Given the description of an element on the screen output the (x, y) to click on. 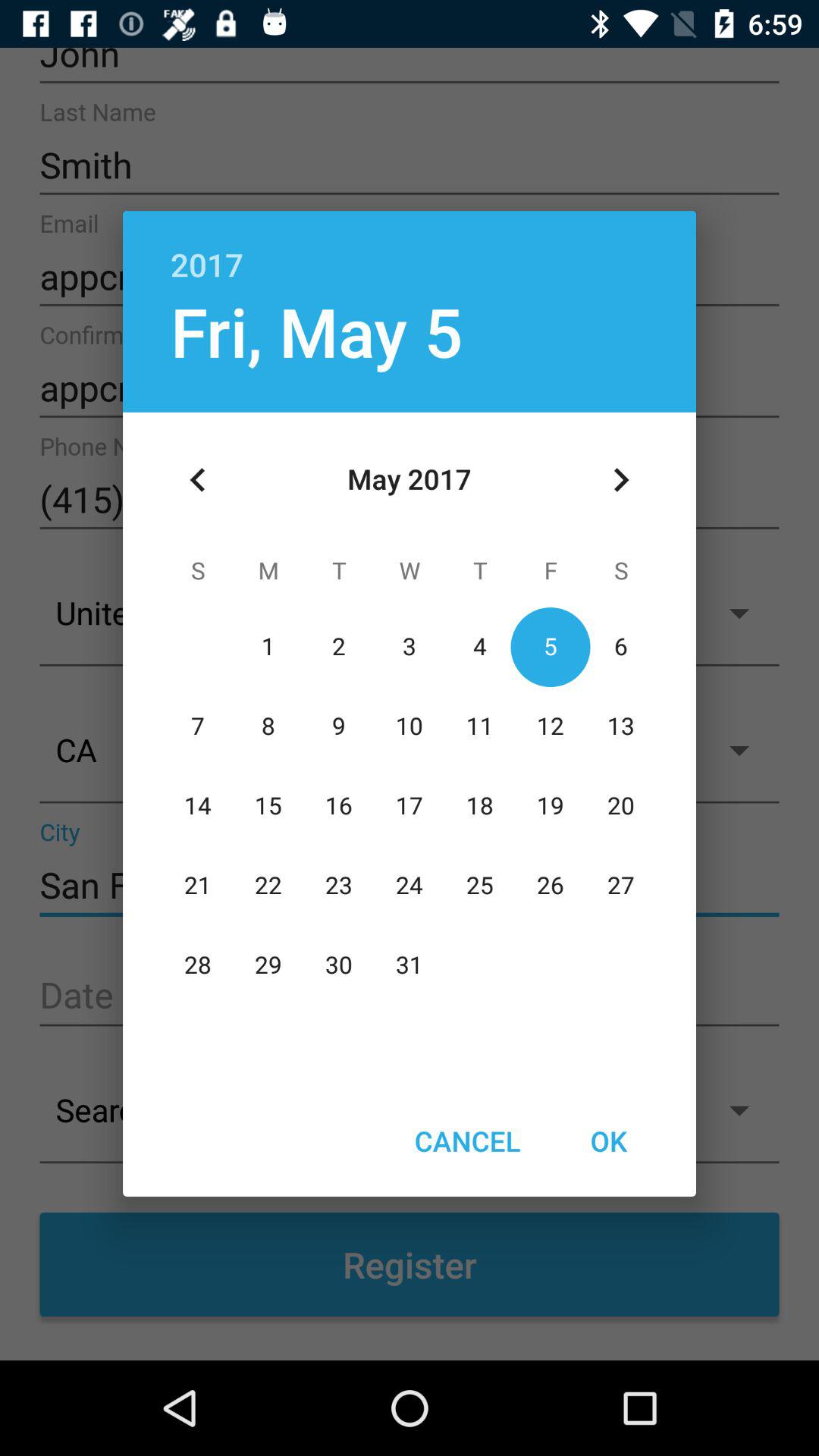
launch the icon next to the cancel icon (608, 1140)
